Given the description of an element on the screen output the (x, y) to click on. 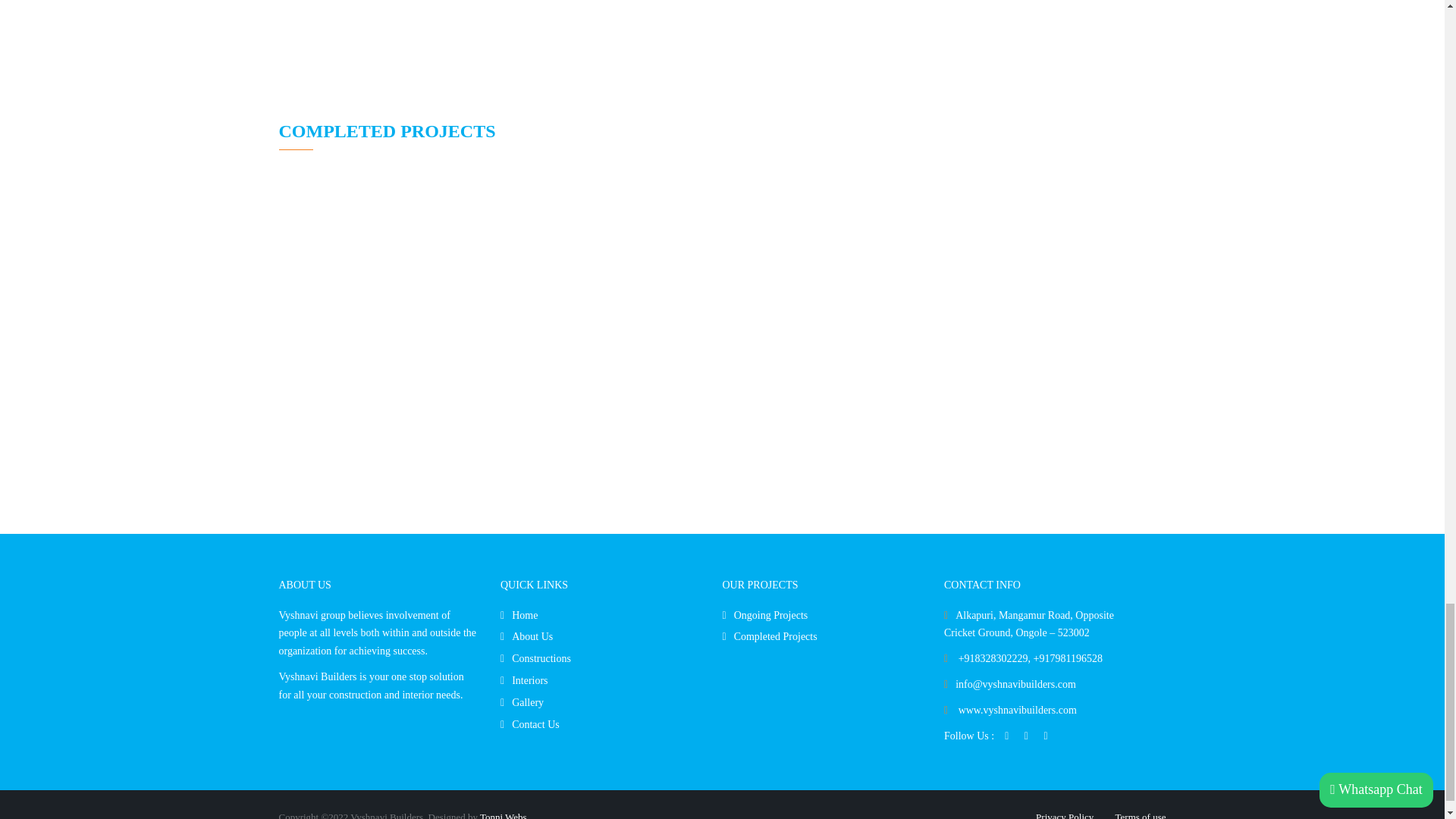
Low Cost Web Design Company in India (503, 815)
